Given the description of an element on the screen output the (x, y) to click on. 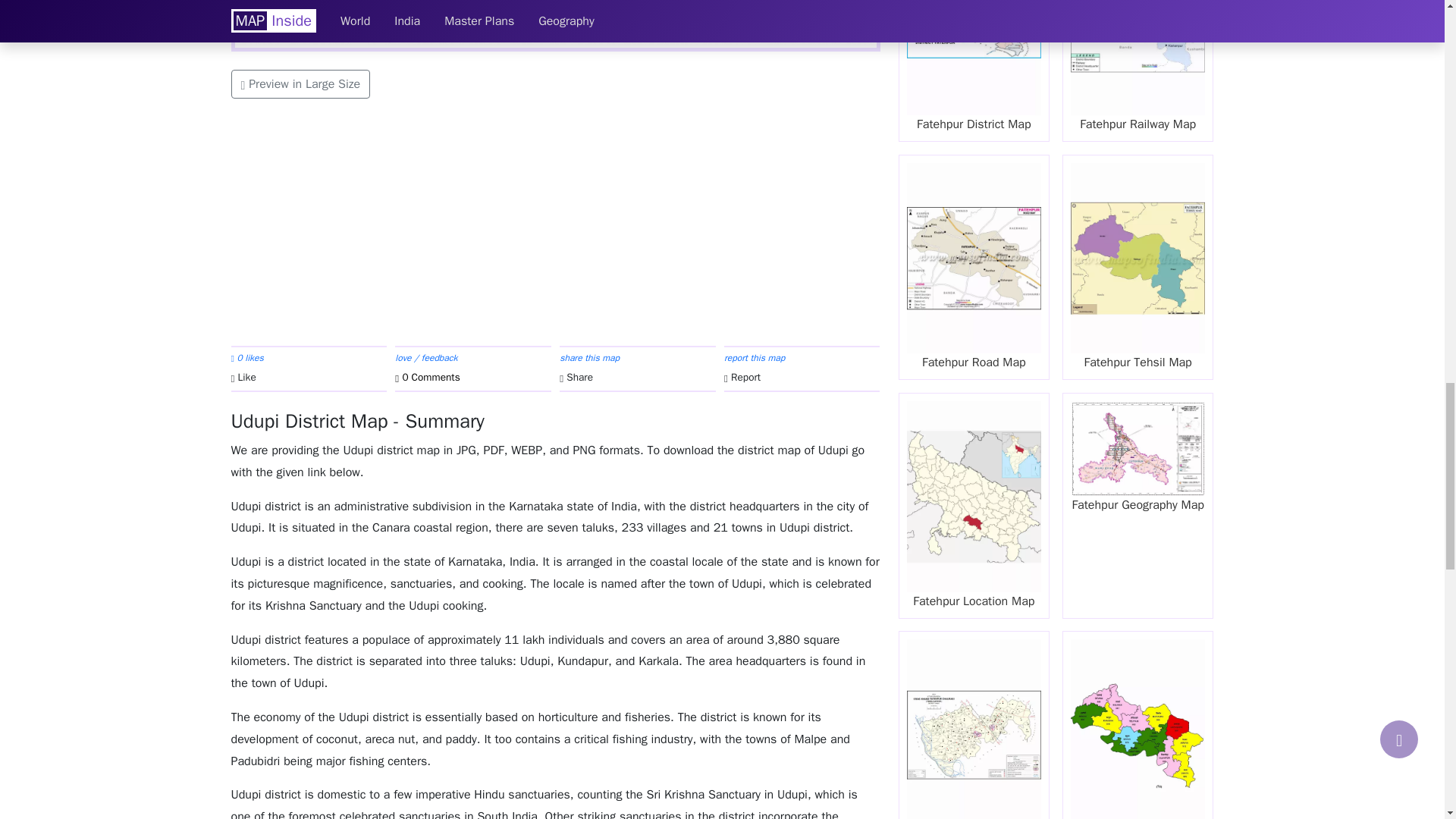
Fatehpur Railway Map (1138, 71)
0 Comments (472, 378)
Fatehpur District Map (973, 71)
